Given the description of an element on the screen output the (x, y) to click on. 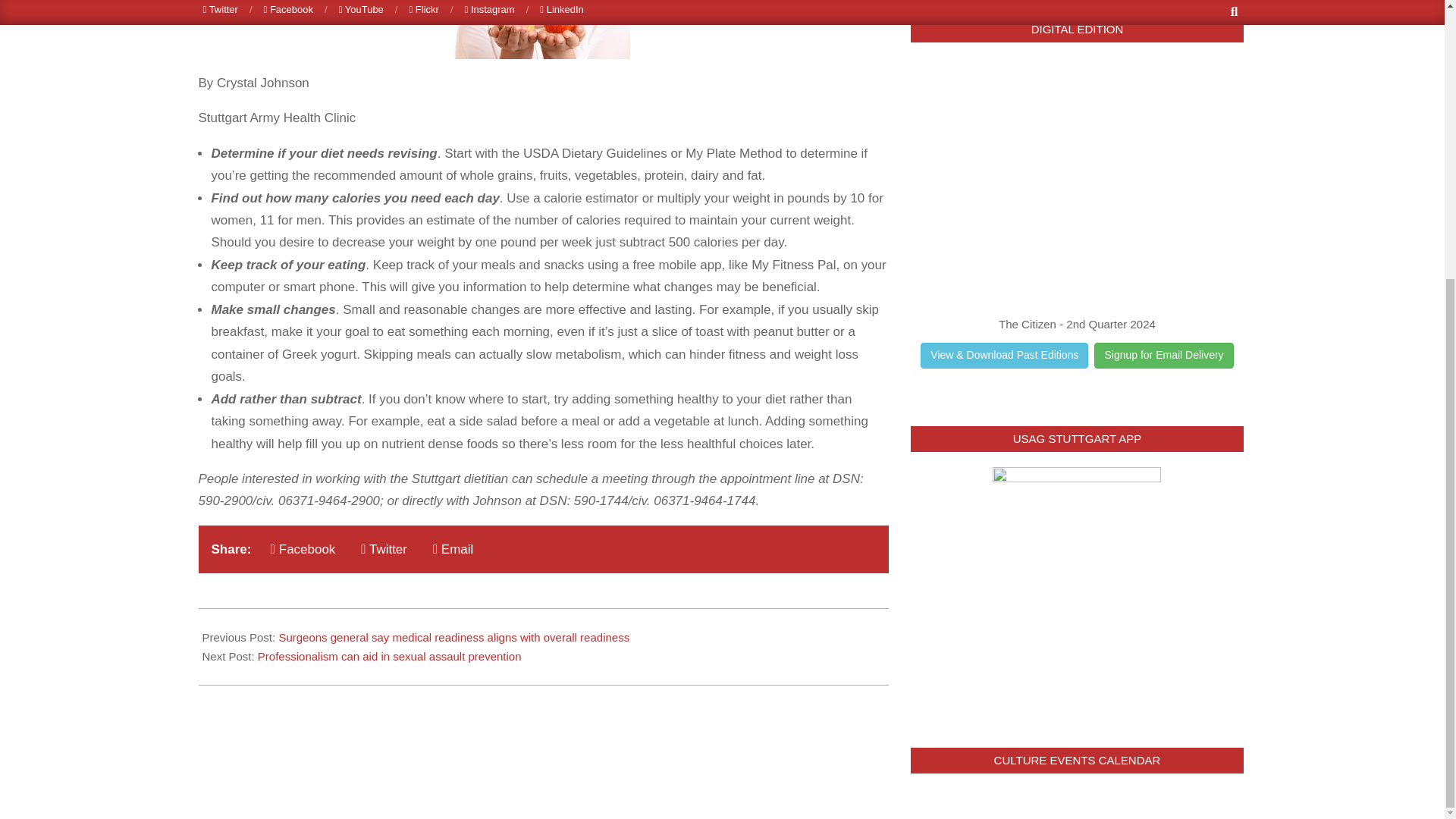
Share on Twitter (384, 549)
Share via Email (452, 549)
Share on Facebook (302, 549)
